Given the description of an element on the screen output the (x, y) to click on. 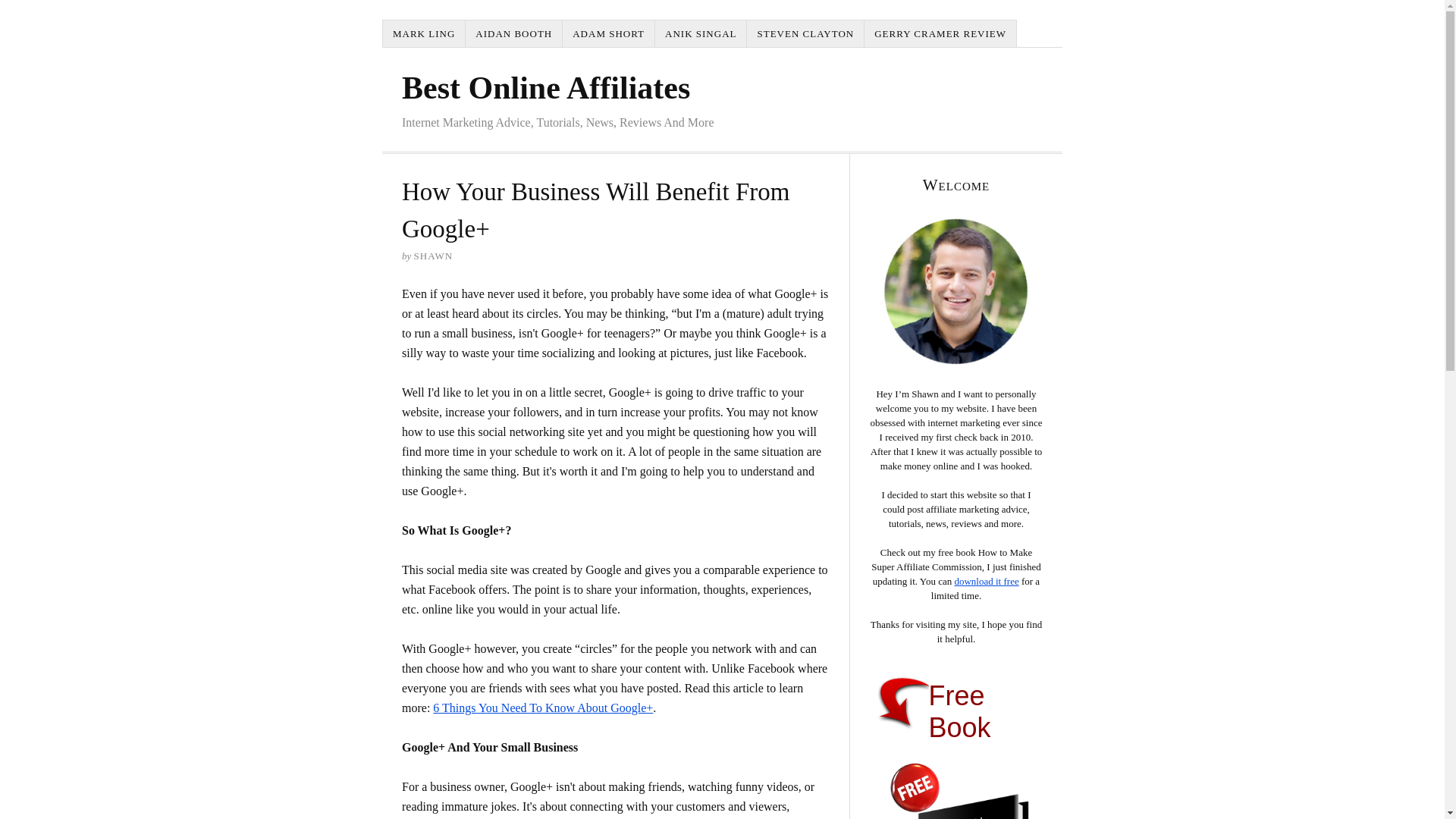
download it free (985, 581)
ADAM SHORT (608, 33)
MARK LING (423, 33)
AIDAN BOOTH (513, 33)
GERRY CRAMER REVIEW (940, 33)
STEVEN CLAYTON (805, 33)
ANIK SINGAL (700, 33)
